Given the description of an element on the screen output the (x, y) to click on. 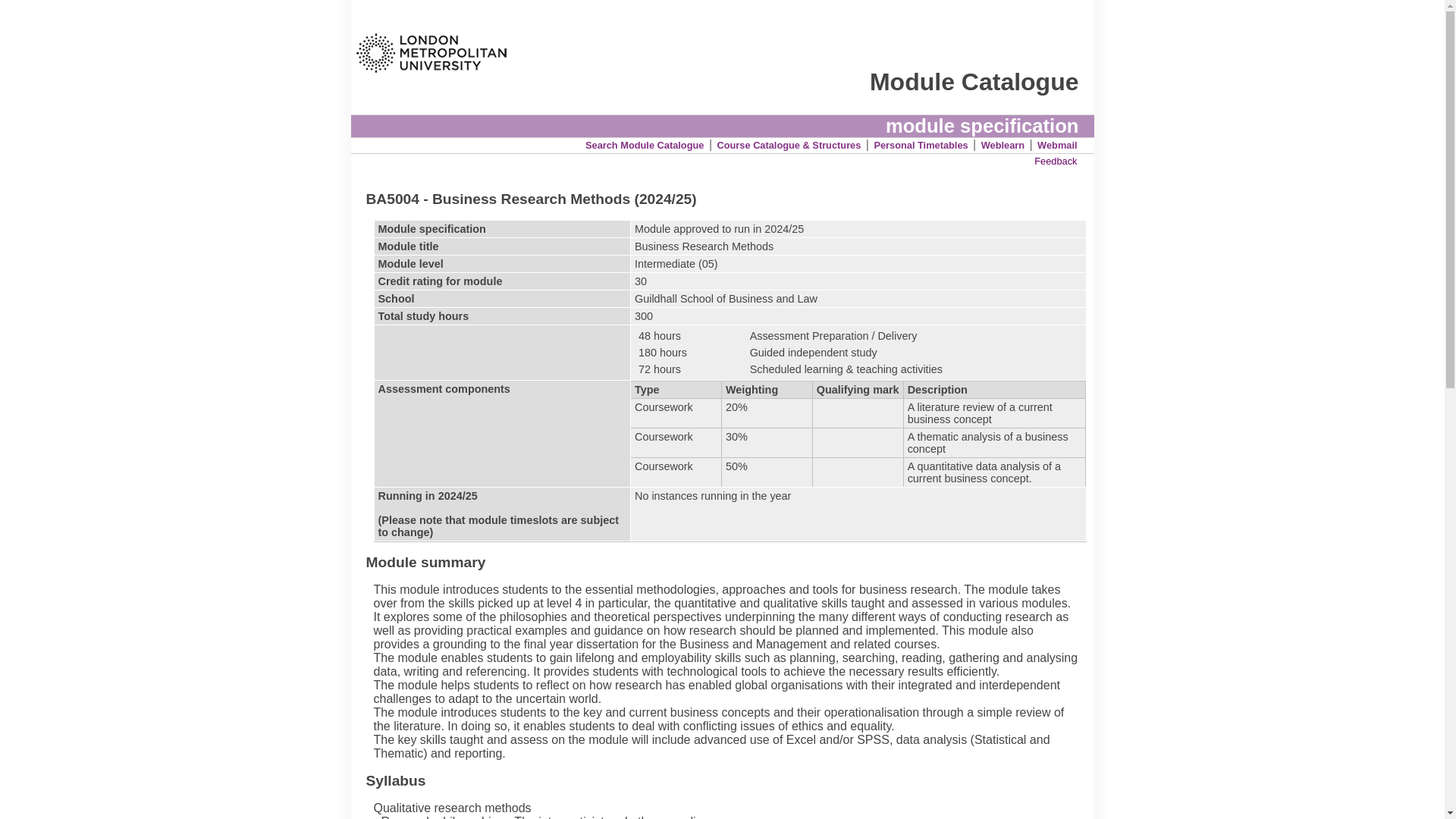
Webmail (1056, 144)
Feedback (1055, 161)
Weblearn (1002, 144)
Search Module Catalogue (643, 144)
Personal Timetables (920, 144)
